Given the description of an element on the screen output the (x, y) to click on. 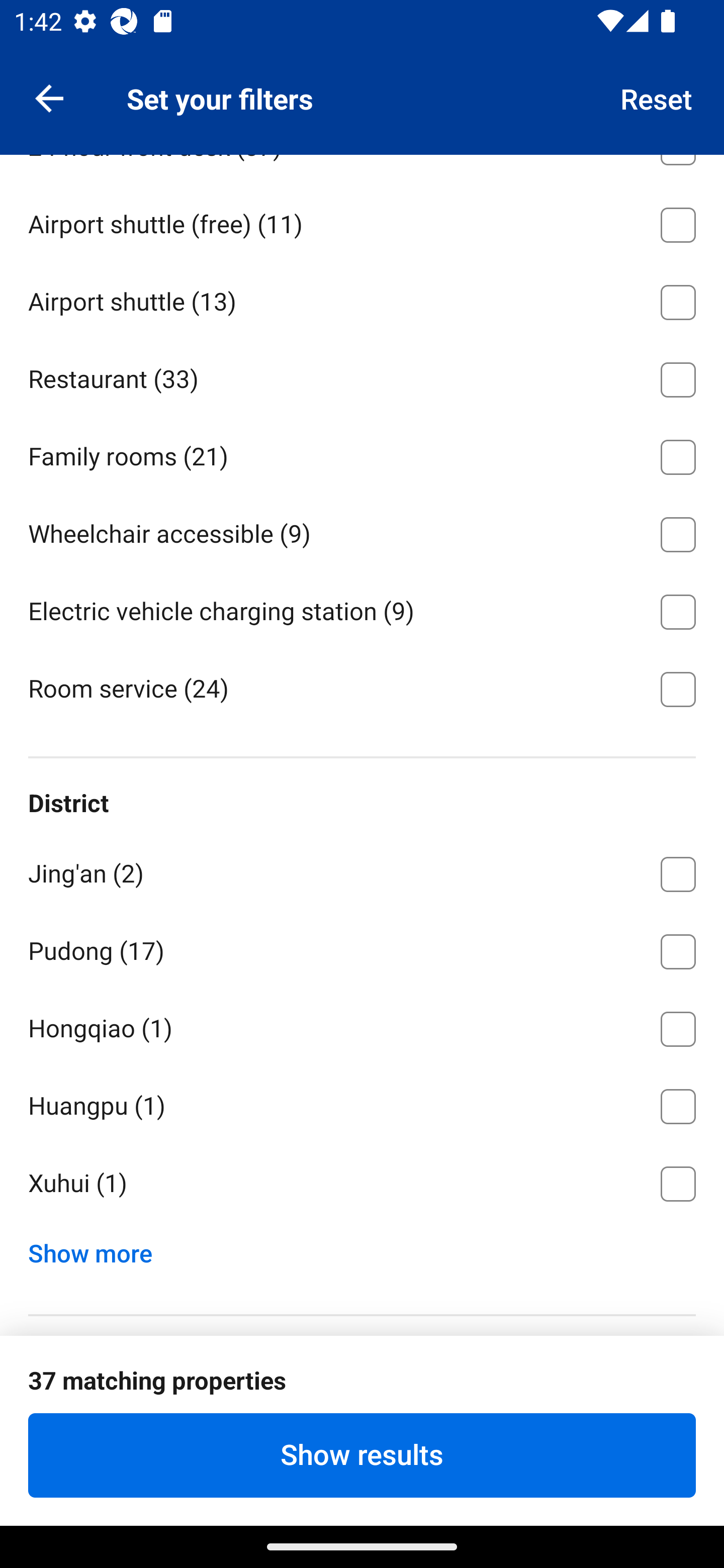
Navigate up (49, 97)
Reset (656, 97)
Airport shuttle (free) ⁦(11) (361, 221)
Airport shuttle ⁦(13) (361, 298)
Restaurant ⁦(33) (361, 376)
Family rooms ⁦(21) (361, 453)
Wheelchair accessible ⁦(9) (361, 530)
Electric vehicle charging station ⁦(9) (361, 608)
Room service ⁦(24) (361, 687)
Jing'an ⁦(2) (361, 870)
Pudong ⁦(17) (361, 947)
Hongqiao ⁦(1) (361, 1025)
Huangpu ⁦(1) (361, 1102)
Xuhui ⁦(1) (361, 1183)
Show more (97, 1248)
Show results (361, 1454)
